Given the description of an element on the screen output the (x, y) to click on. 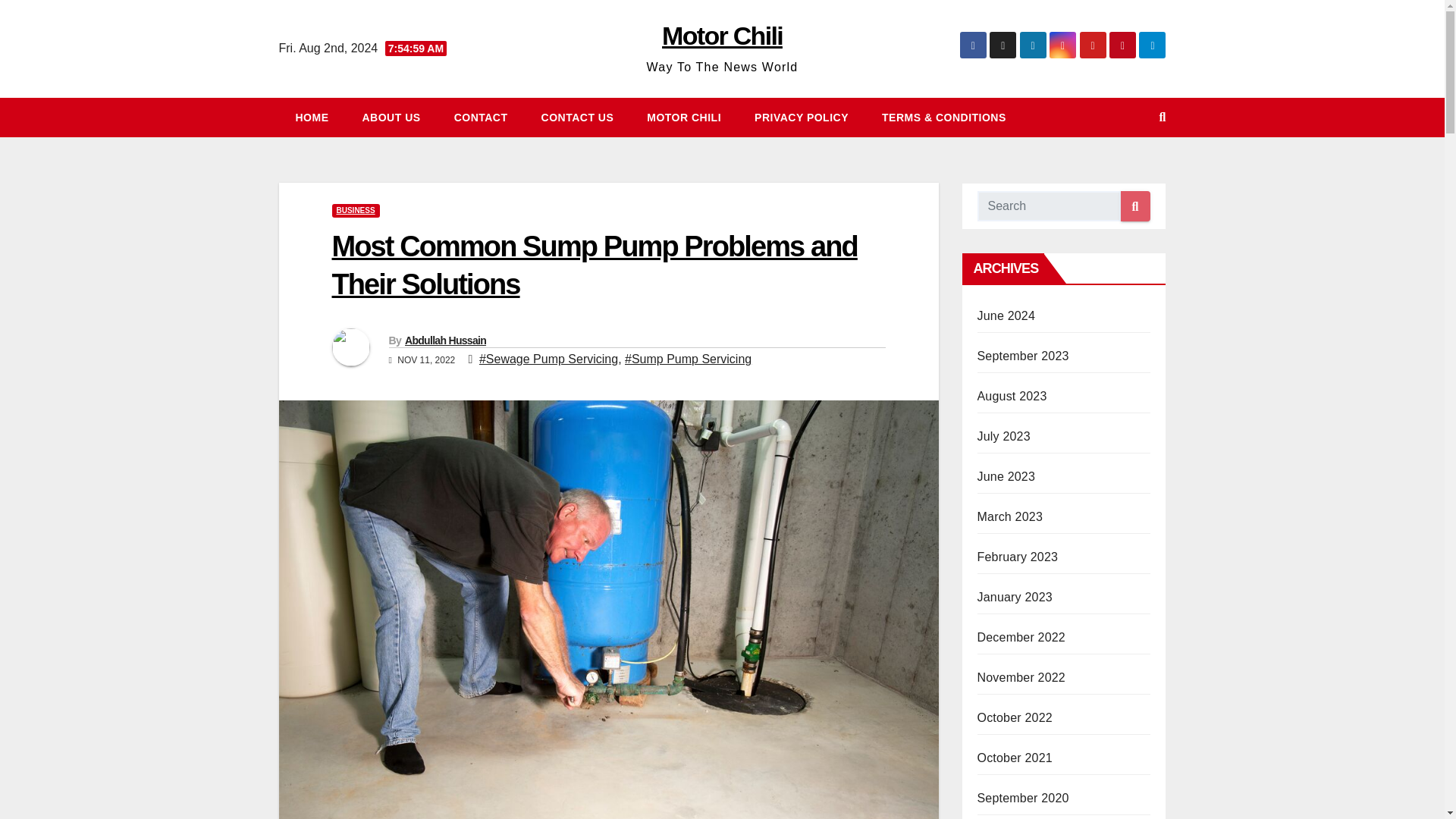
BUSINESS (355, 210)
Home (312, 117)
CONTACT US (577, 117)
Motor Chili (722, 35)
ABOUT US (392, 117)
HOME (312, 117)
Most Common Sump Pump Problems and Their Solutions (594, 264)
CONTACT (481, 117)
MOTOR CHILI (684, 117)
PRIVACY POLICY (801, 117)
Abdullah Hussain (445, 340)
